Given the description of an element on the screen output the (x, y) to click on. 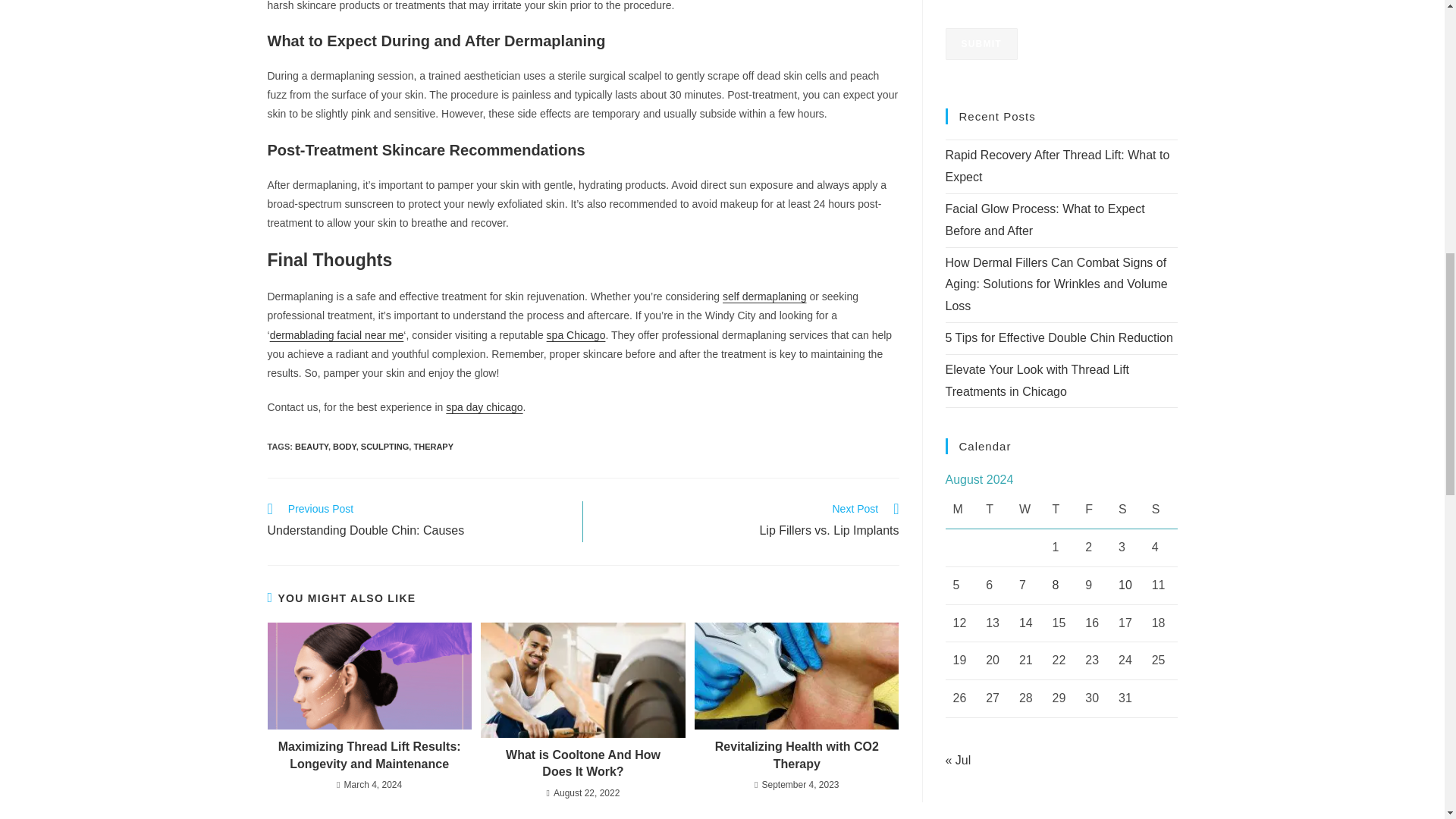
Friday (1093, 246)
Sunday (1160, 246)
Monday (961, 246)
Tuesday (994, 246)
Saturday (1127, 246)
Wednesday (1028, 246)
Thursday (1061, 246)
